Given the description of an element on the screen output the (x, y) to click on. 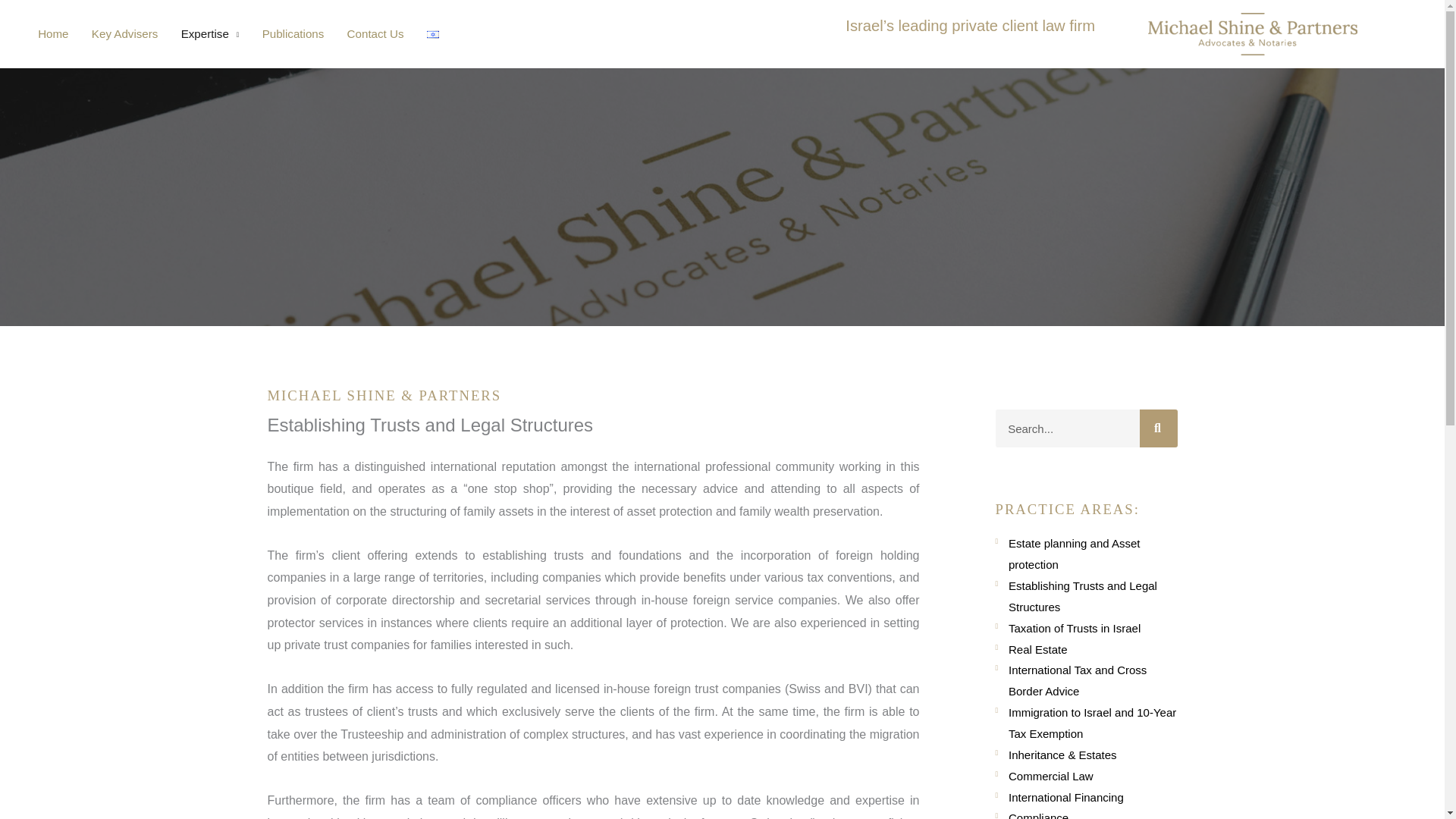
Publications (292, 34)
Expertise (210, 34)
Key Advisers (125, 34)
Home (53, 34)
Contact Us (374, 34)
